Given the description of an element on the screen output the (x, y) to click on. 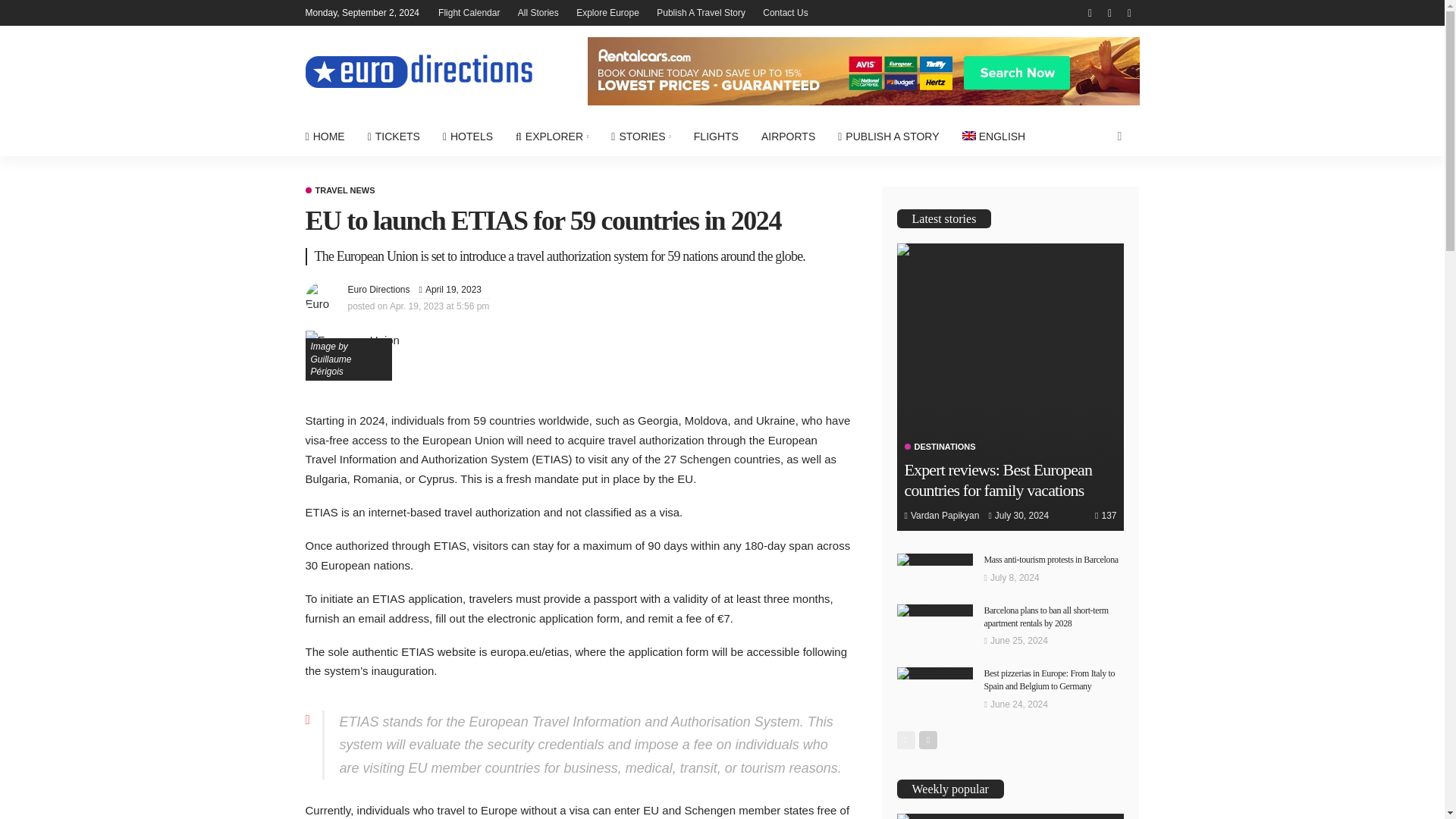
Flight Calendar (468, 12)
Publish A Travel Story (700, 12)
Contact Us (785, 12)
All Stories (538, 12)
Explore Europe (607, 12)
search (1118, 136)
English (993, 136)
